Given the description of an element on the screen output the (x, y) to click on. 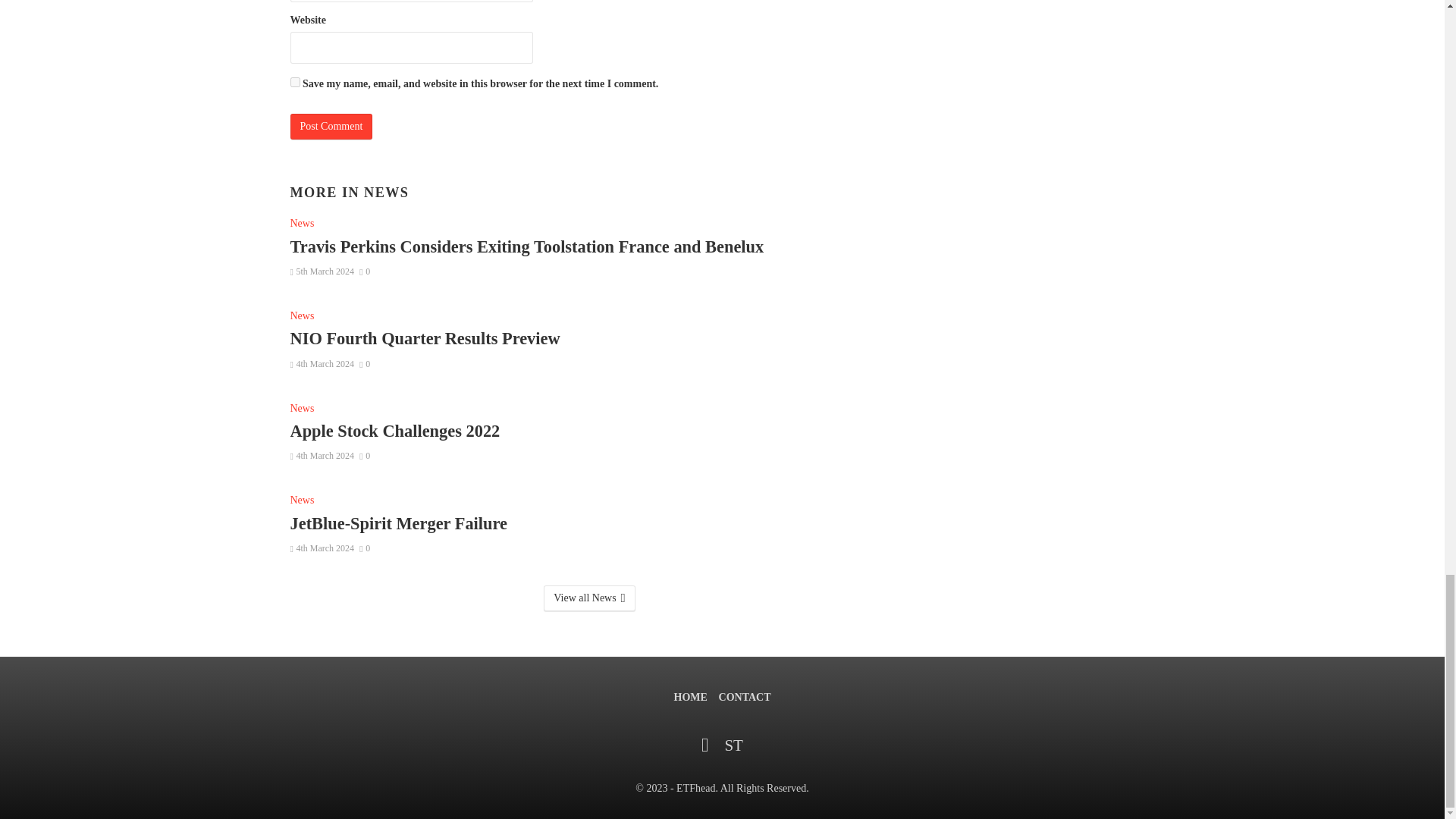
yes (294, 81)
Post Comment (330, 126)
